Given the description of an element on the screen output the (x, y) to click on. 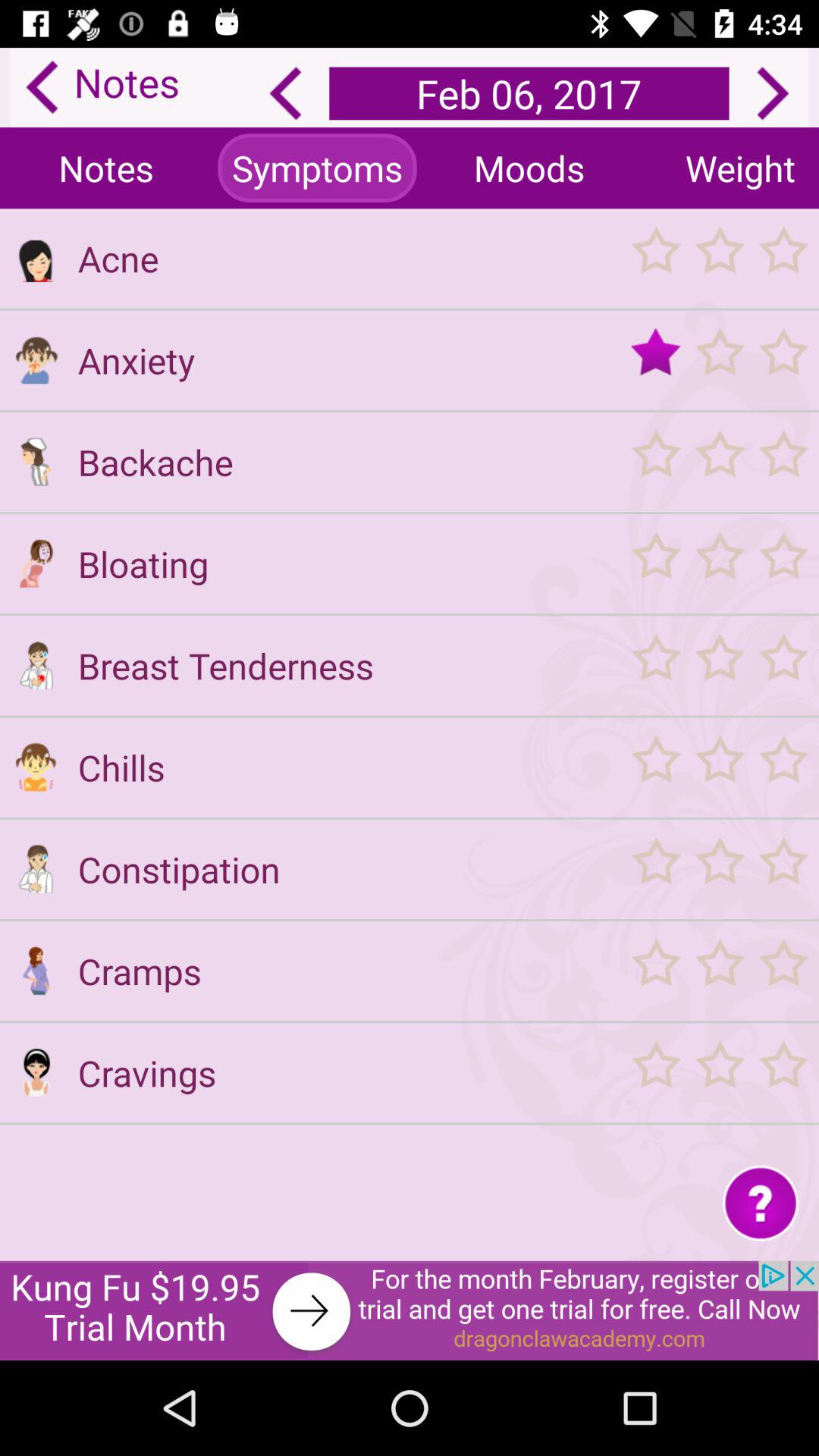
choose symptom gravity (719, 970)
